Given the description of an element on the screen output the (x, y) to click on. 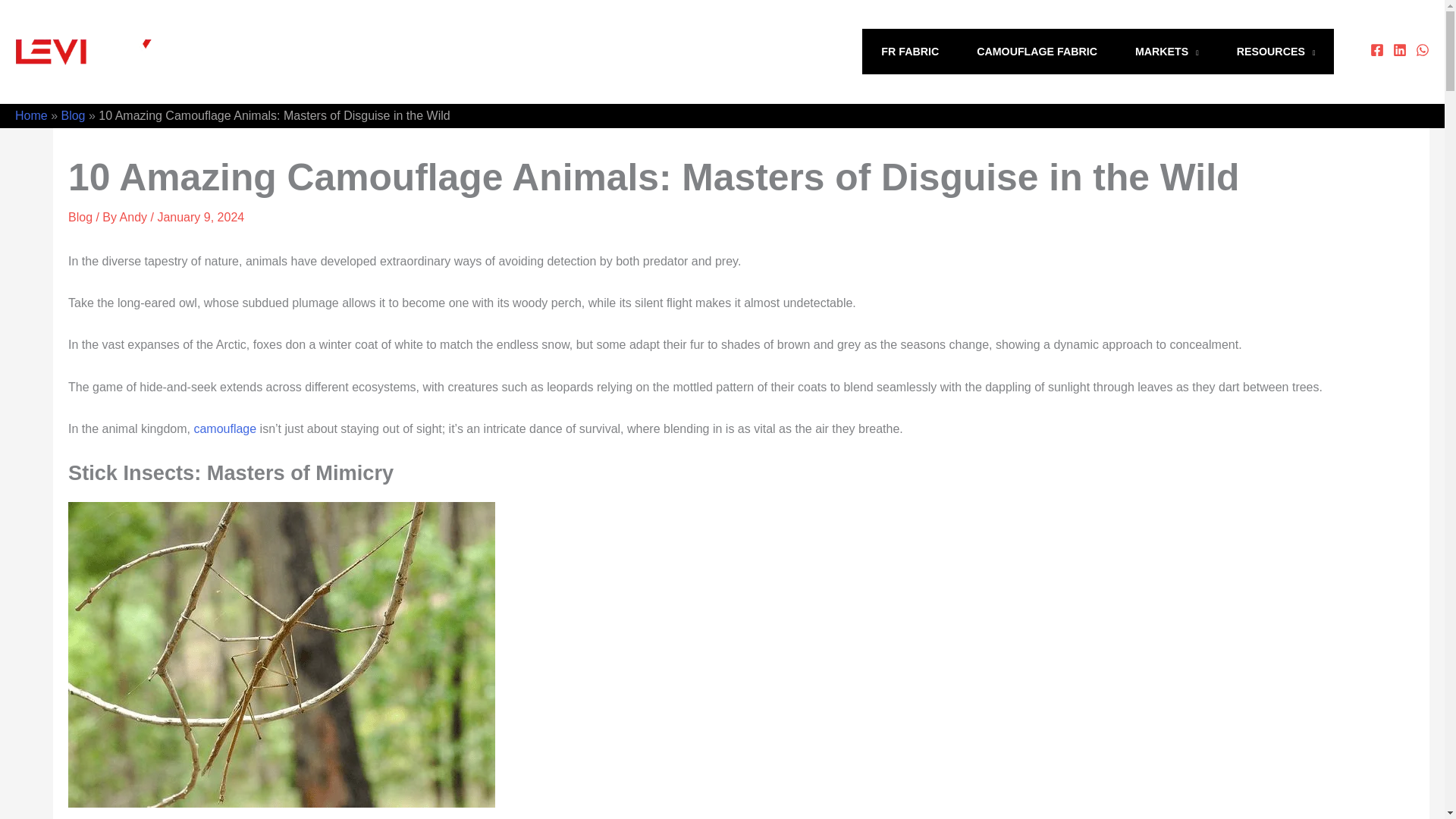
RESOURCES (1276, 51)
Home (31, 115)
FR FABRIC (909, 51)
CAMOUFLAGE FABRIC (1037, 51)
MARKETS (1166, 51)
View all posts by Andy (135, 216)
Blog (72, 115)
